Given the description of an element on the screen output the (x, y) to click on. 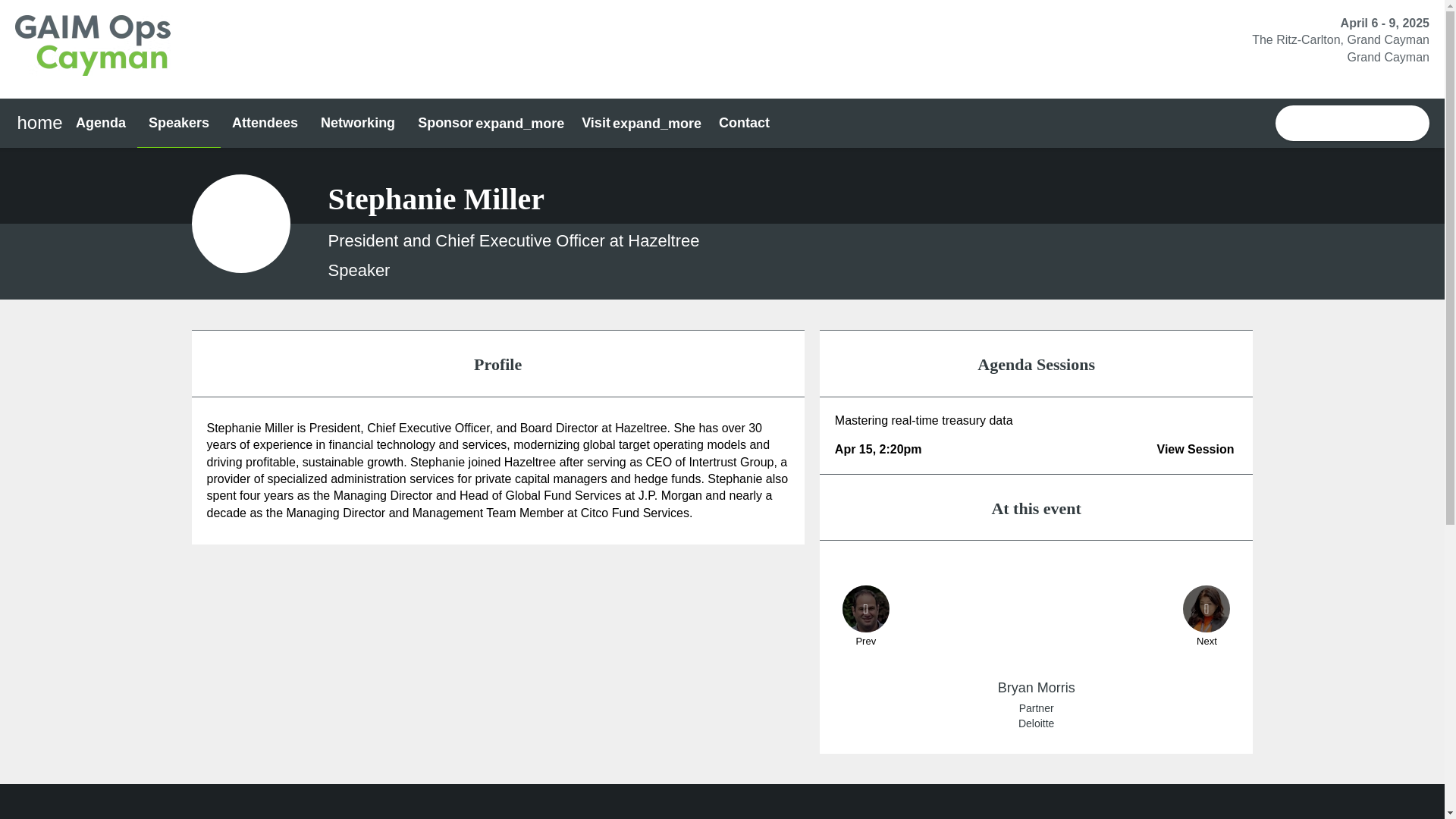
Agenda (100, 122)
Speakers (178, 122)
Networking (357, 122)
Book now (1352, 122)
Contact (743, 122)
home (39, 123)
Attendees (264, 122)
